Given the description of an element on the screen output the (x, y) to click on. 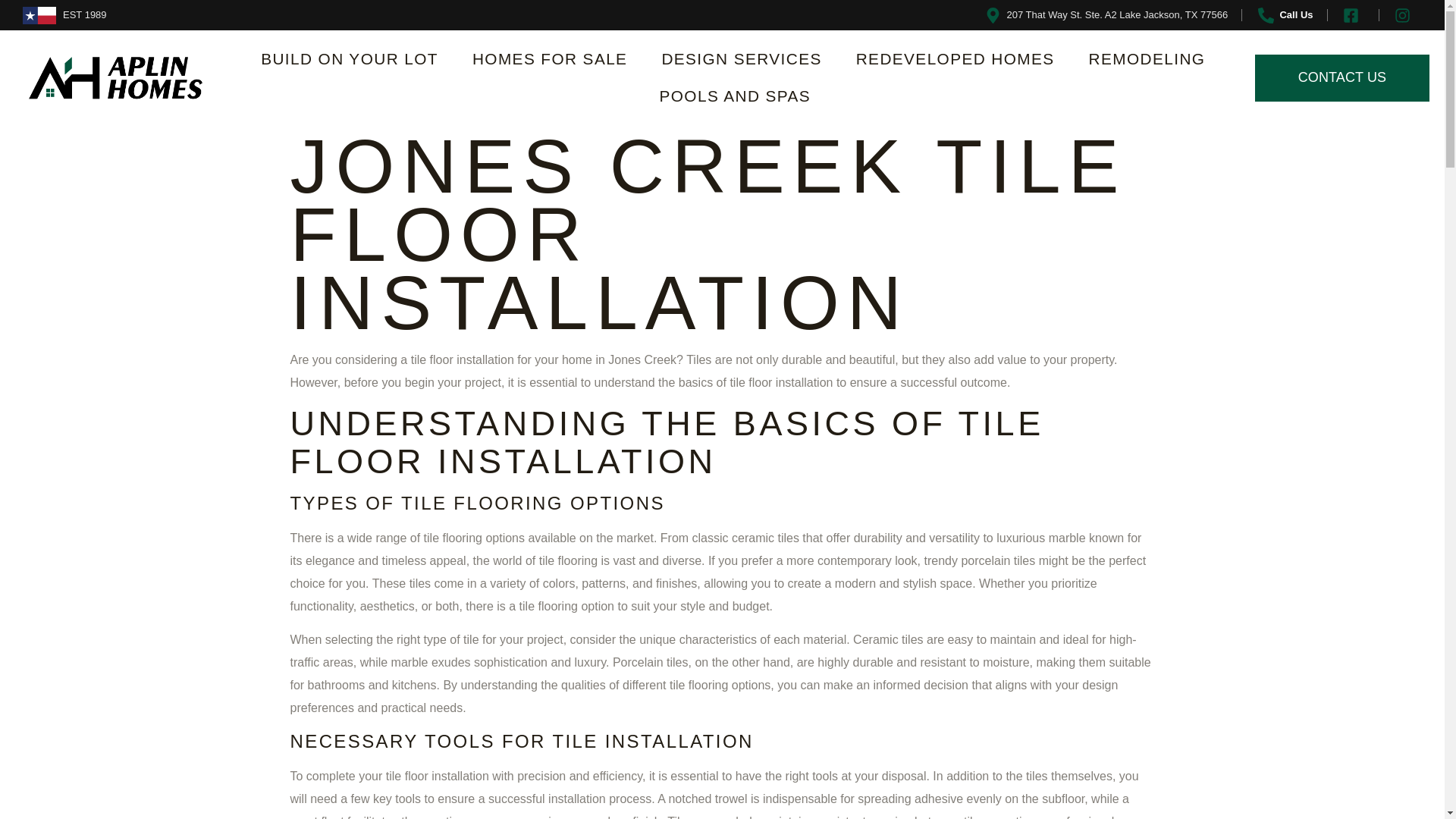
BUILD ON YOUR LOT (349, 58)
REMODELING (1147, 58)
DESIGN SERVICES (740, 58)
CONTACT US (1342, 77)
POOLS AND SPAS (736, 96)
REDEVELOPED HOMES (955, 58)
HOMES FOR SALE (550, 58)
Call Us (1284, 15)
